Given the description of an element on the screen output the (x, y) to click on. 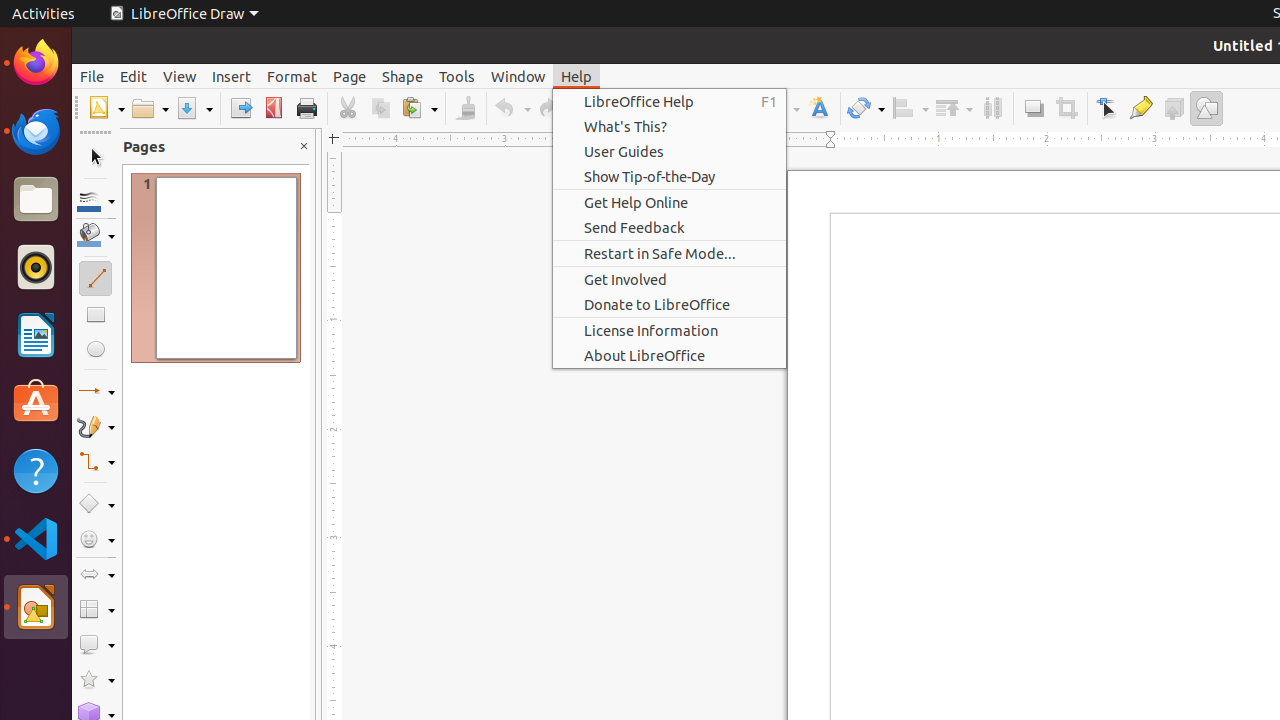
LibreOffice Draw Element type: push-button (36, 607)
Copy Element type: push-button (380, 108)
What's This? Element type: menu-item (669, 126)
LibreOffice Help Element type: menu-item (669, 101)
Shadow Element type: toggle-button (1033, 108)
